Given the description of an element on the screen output the (x, y) to click on. 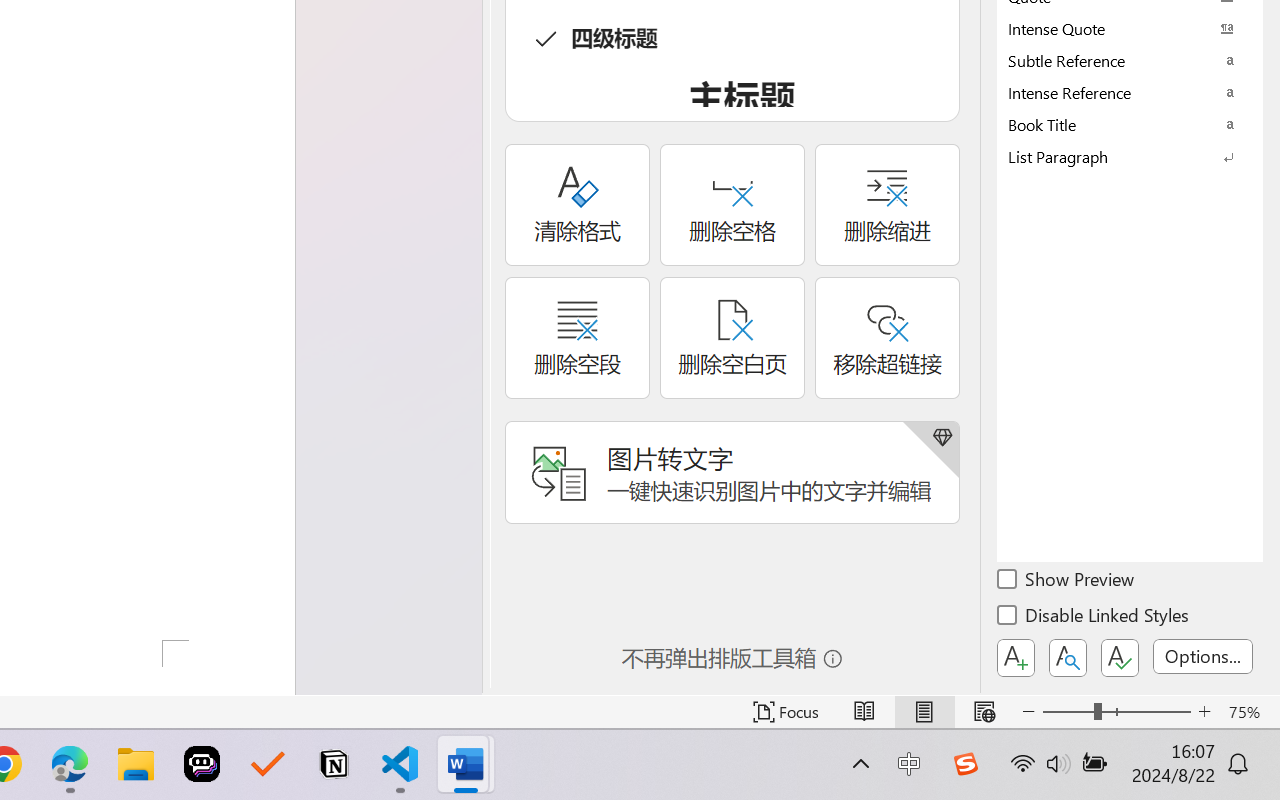
Print Layout (924, 712)
Class: NetUIImage (1116, 156)
List Paragraph (1130, 156)
Class: Image (965, 764)
Options... (1203, 656)
